Given the description of an element on the screen output the (x, y) to click on. 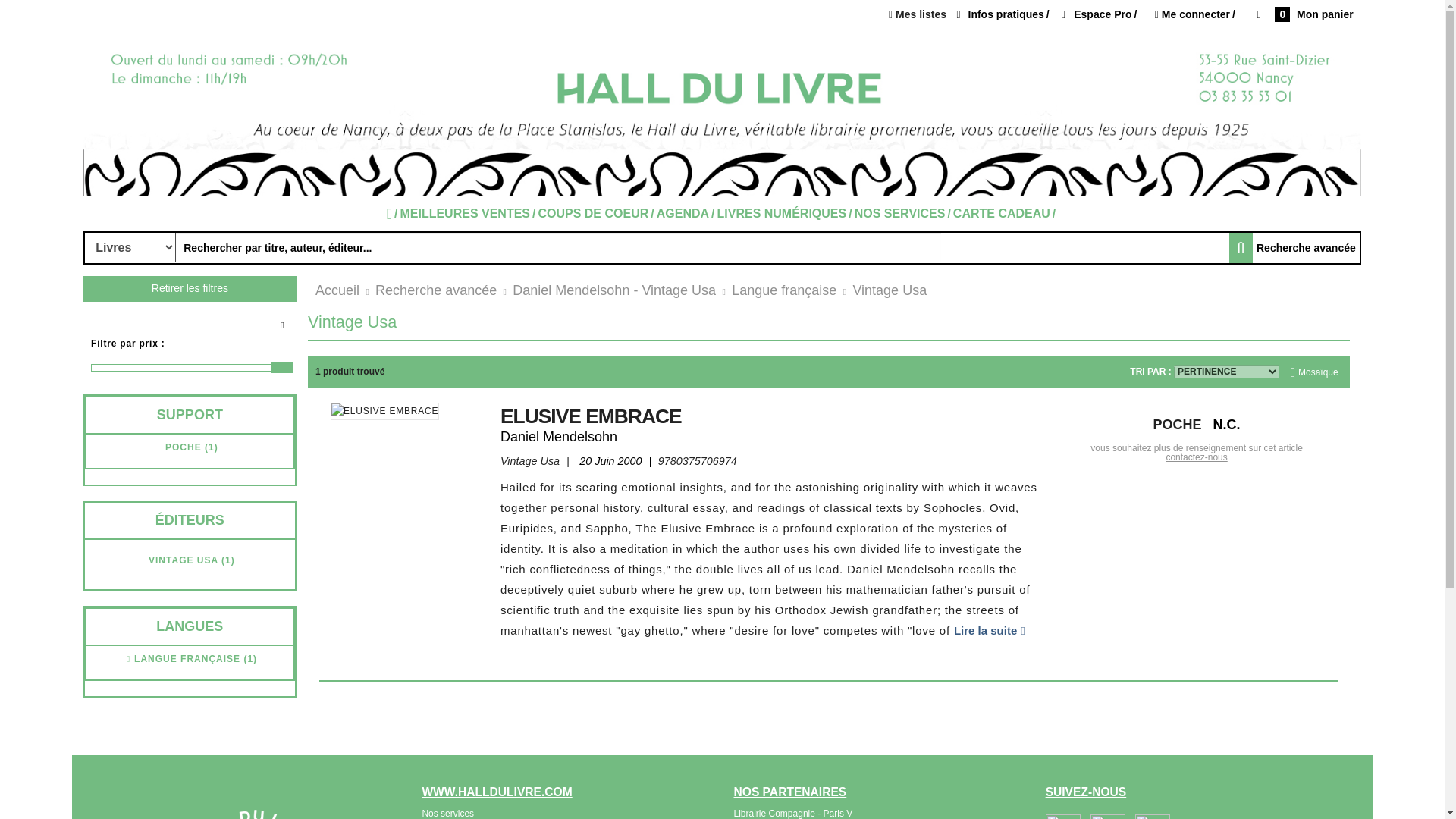
MEILLEURES VENTES (467, 214)
Me connecter (1195, 15)
Espace Pro (1100, 14)
ELUSIVE EMBRACE (384, 411)
CARTE CADEAU (1005, 214)
Trier par (1226, 371)
COUPS DE COEUR (596, 214)
Infos pratiques (1003, 14)
NOS SERVICES (903, 214)
0 Mon panier (1304, 15)
Mes listes (917, 14)
Grille (1314, 371)
Daniel Mendelsohn (558, 436)
AGENDA (686, 214)
Rechercher (130, 247)
